Given the description of an element on the screen output the (x, y) to click on. 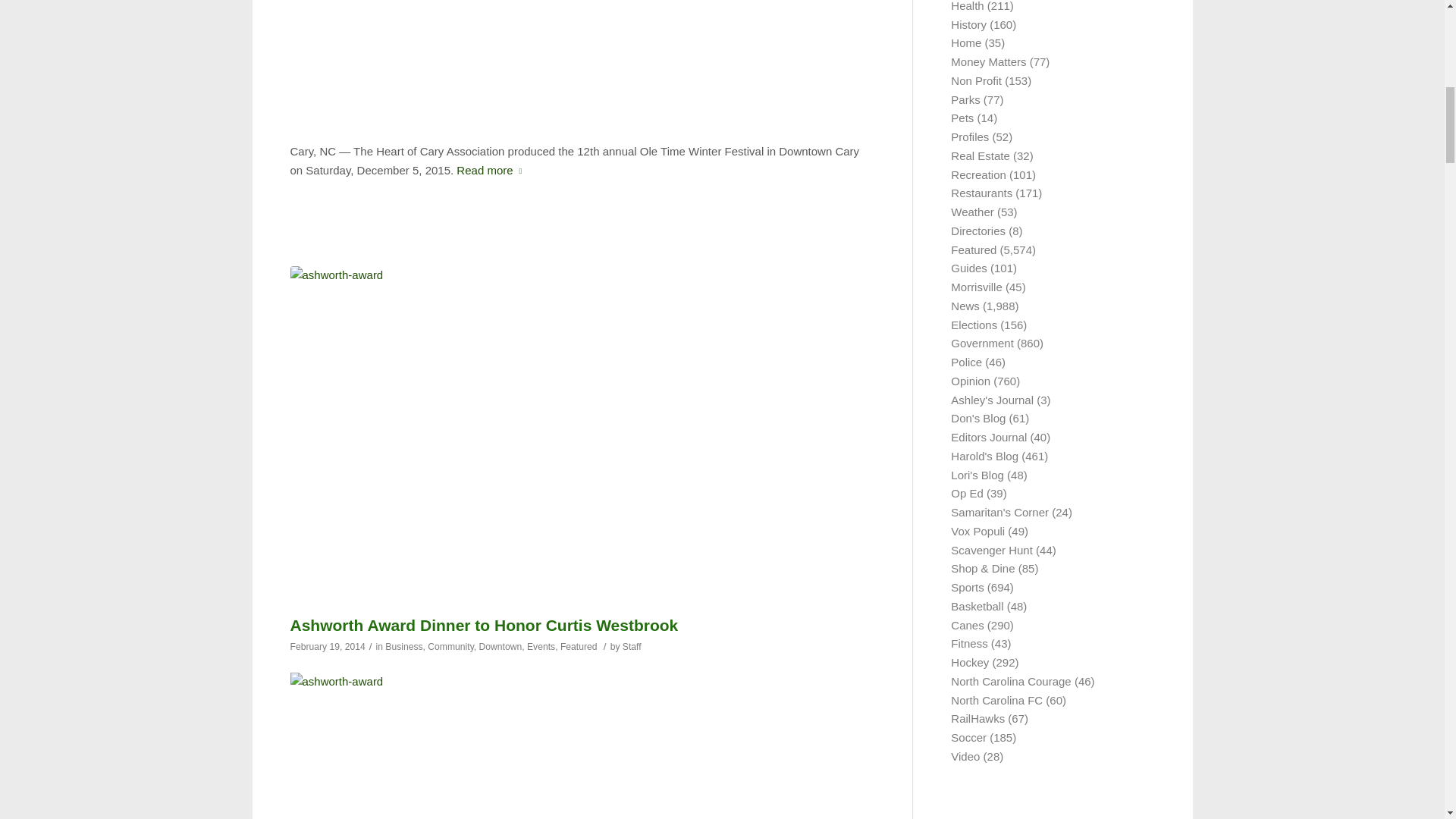
Posts by Staff (632, 646)
